Given the description of an element on the screen output the (x, y) to click on. 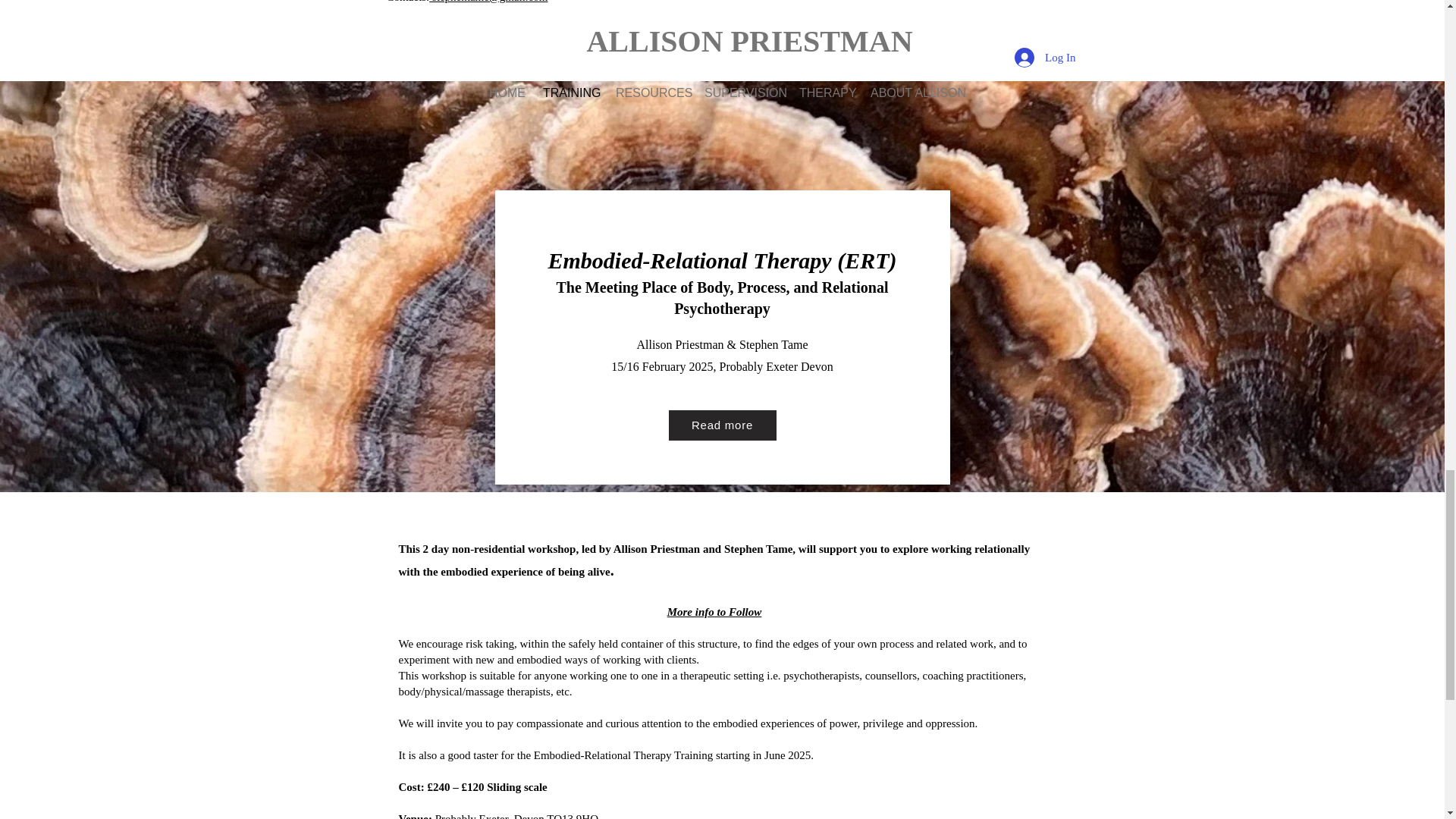
More info to Follow (713, 611)
Read more (722, 425)
